Given the description of an element on the screen output the (x, y) to click on. 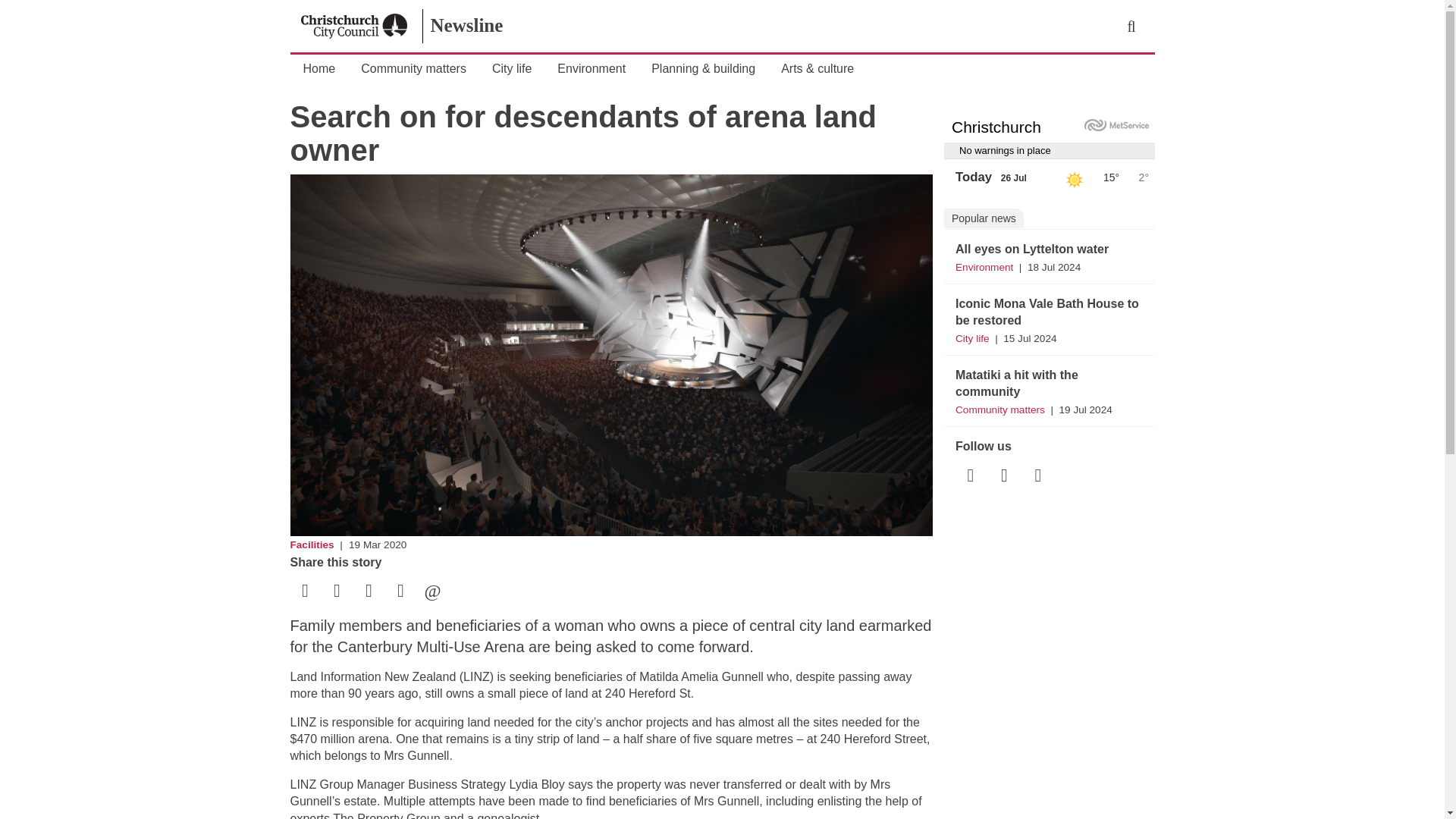
Share this story on LinkedIn (368, 592)
Community matters (414, 69)
Copy story link (400, 592)
Iconic Mona Vale Bath House to be restored (1046, 311)
Matatiki a hit with the community (1016, 383)
Share this story on Facebook (304, 592)
Follow us on X (1003, 476)
Copy story link (399, 592)
Newsline (467, 25)
Facilities (311, 544)
Return to homepage (354, 26)
Environment (590, 69)
All eyes on Lyttelton water (1031, 248)
X share (337, 592)
Follow us on Facebook (970, 476)
